Given the description of an element on the screen output the (x, y) to click on. 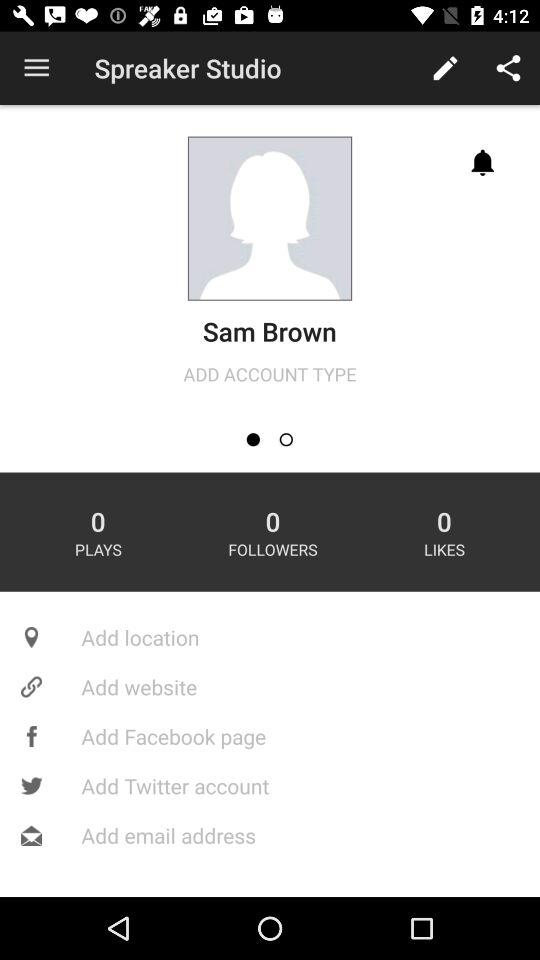
change account (285, 439)
